Given the description of an element on the screen output the (x, y) to click on. 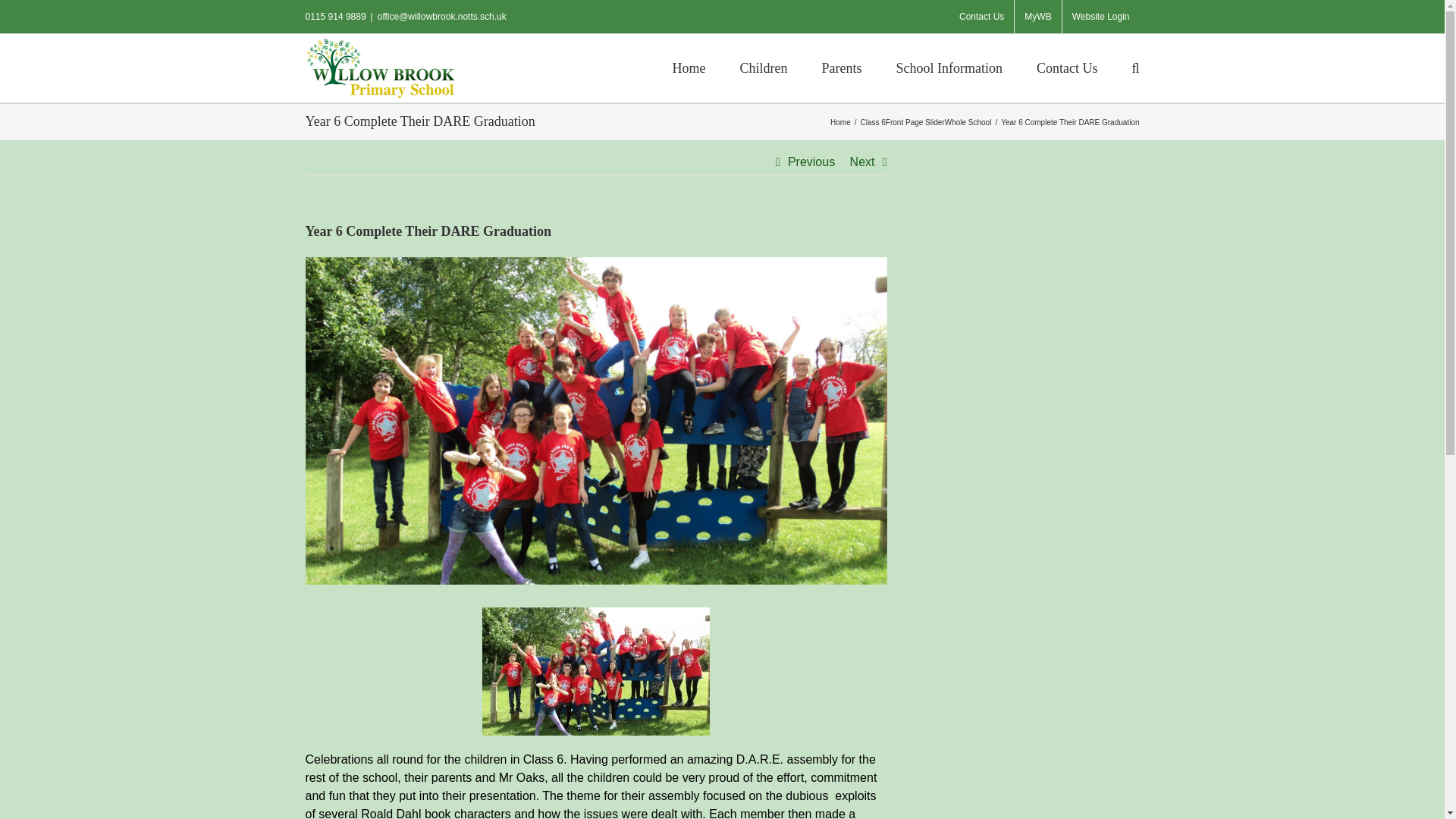
Contact Us (981, 16)
Website Login (1101, 16)
School Information (949, 66)
MyWB (1037, 16)
